Given the description of an element on the screen output the (x, y) to click on. 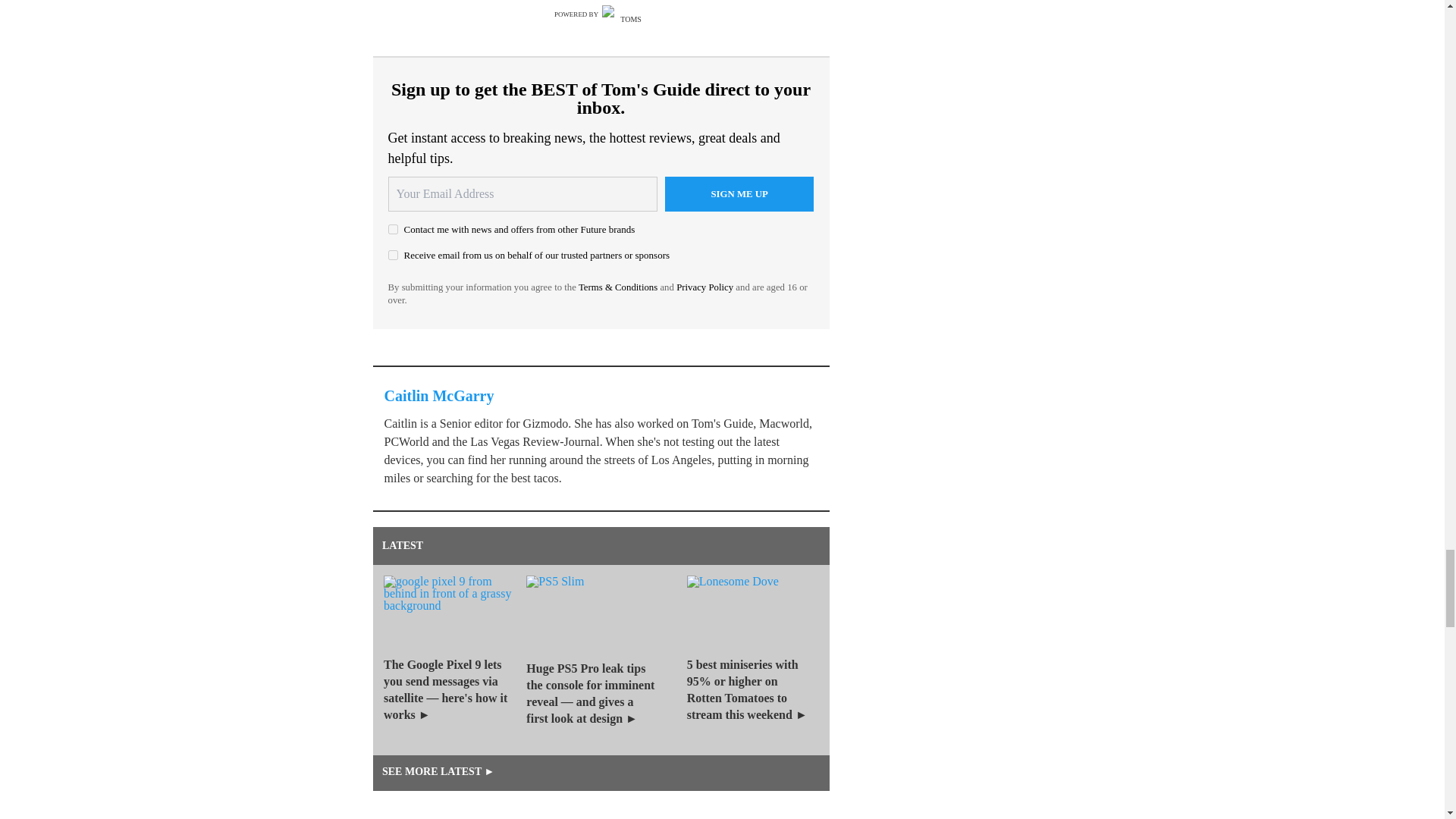
on (392, 255)
Toms Guide (624, 14)
Sign me up (739, 193)
on (392, 229)
